Given the description of an element on the screen output the (x, y) to click on. 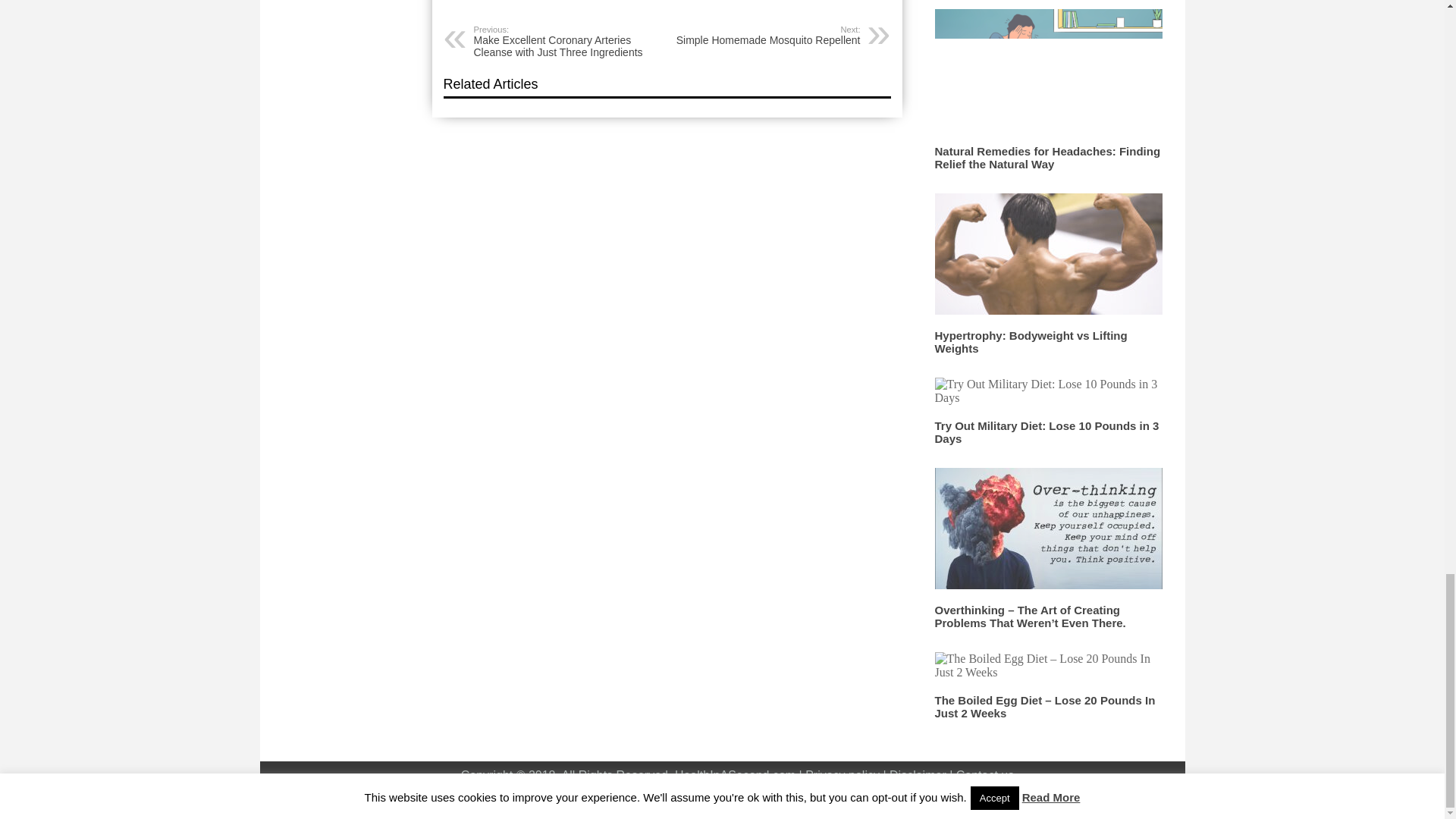
Try Out Military Diet: Lose 10 Pounds in 3 Days (764, 35)
Hypertrophy: Bodyweight vs Lifting Weights (1046, 432)
